Given the description of an element on the screen output the (x, y) to click on. 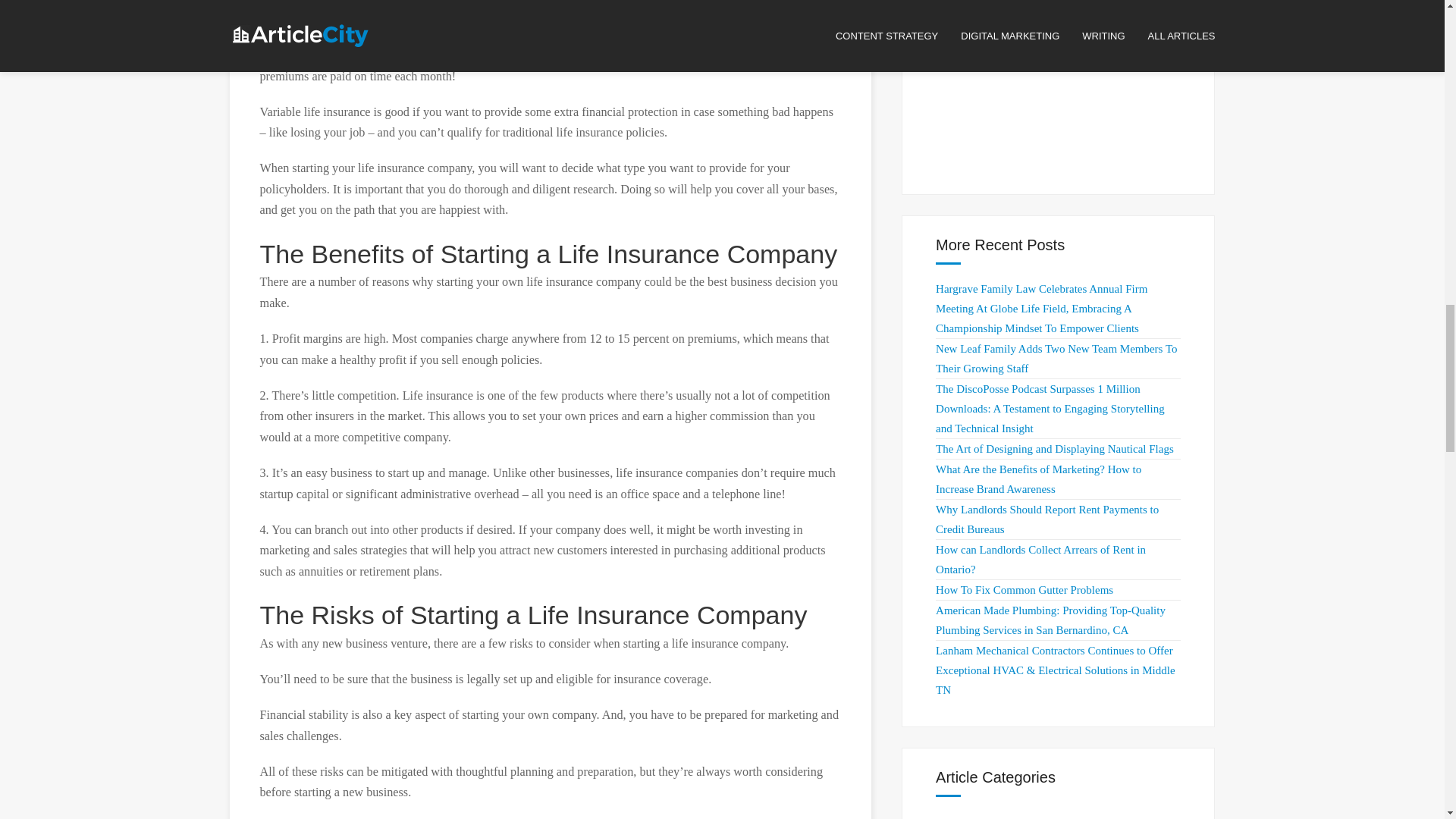
How can Landlords Collect Arrears of Rent in Ontario? (1040, 559)
How To Fix Common Gutter Problems (1024, 589)
The Art of Designing and Displaying Nautical Flags (1054, 449)
Why Landlords Should Report Rent Payments to Credit Bureaus (1047, 519)
